Given the description of an element on the screen output the (x, y) to click on. 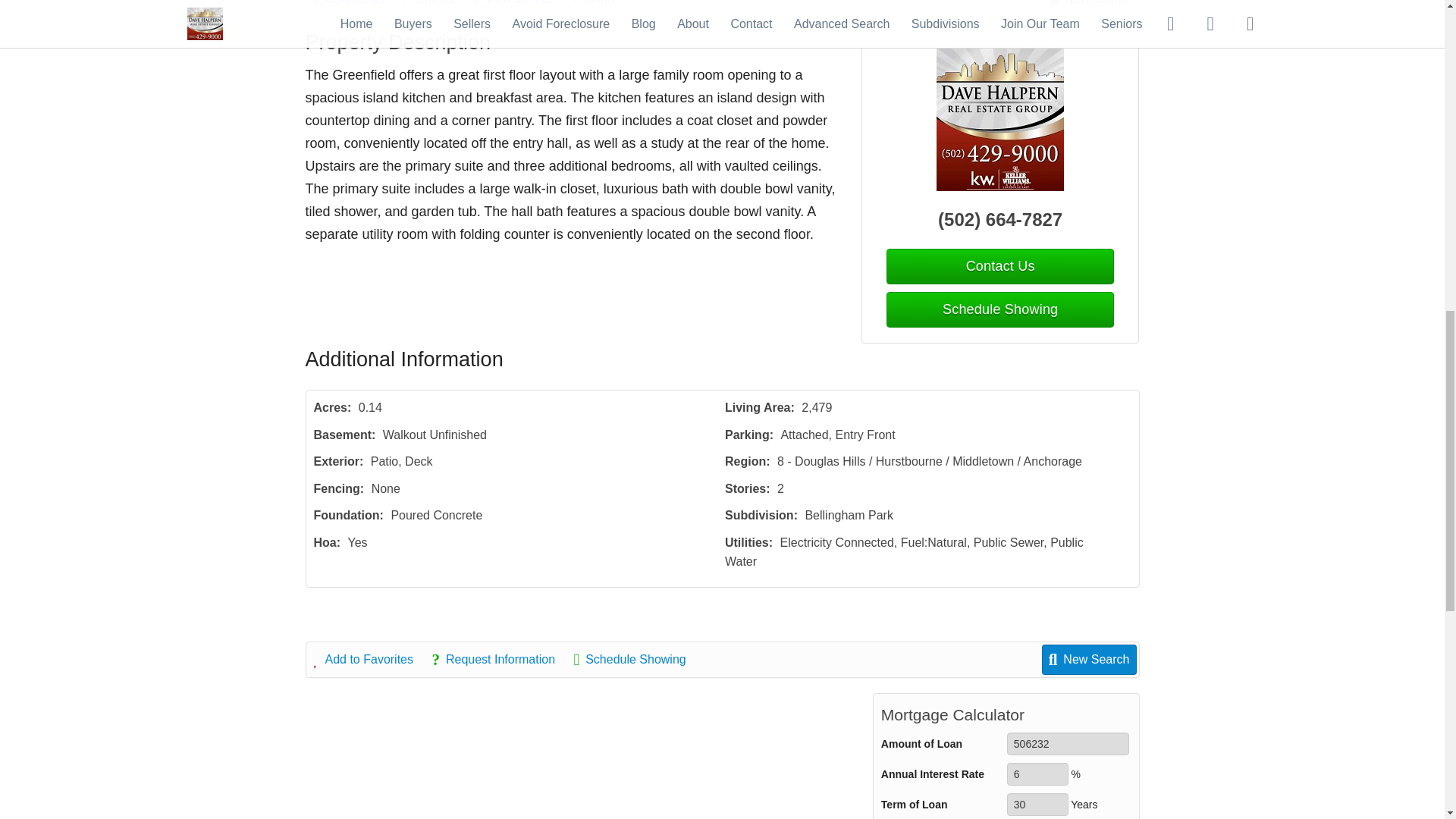
New Search (1090, 5)
Share (603, 5)
30 (1037, 804)
506232 (1068, 743)
Contact Us (357, 5)
6 (1037, 773)
Call Us (437, 5)
View on Map (521, 5)
